Given the description of an element on the screen output the (x, y) to click on. 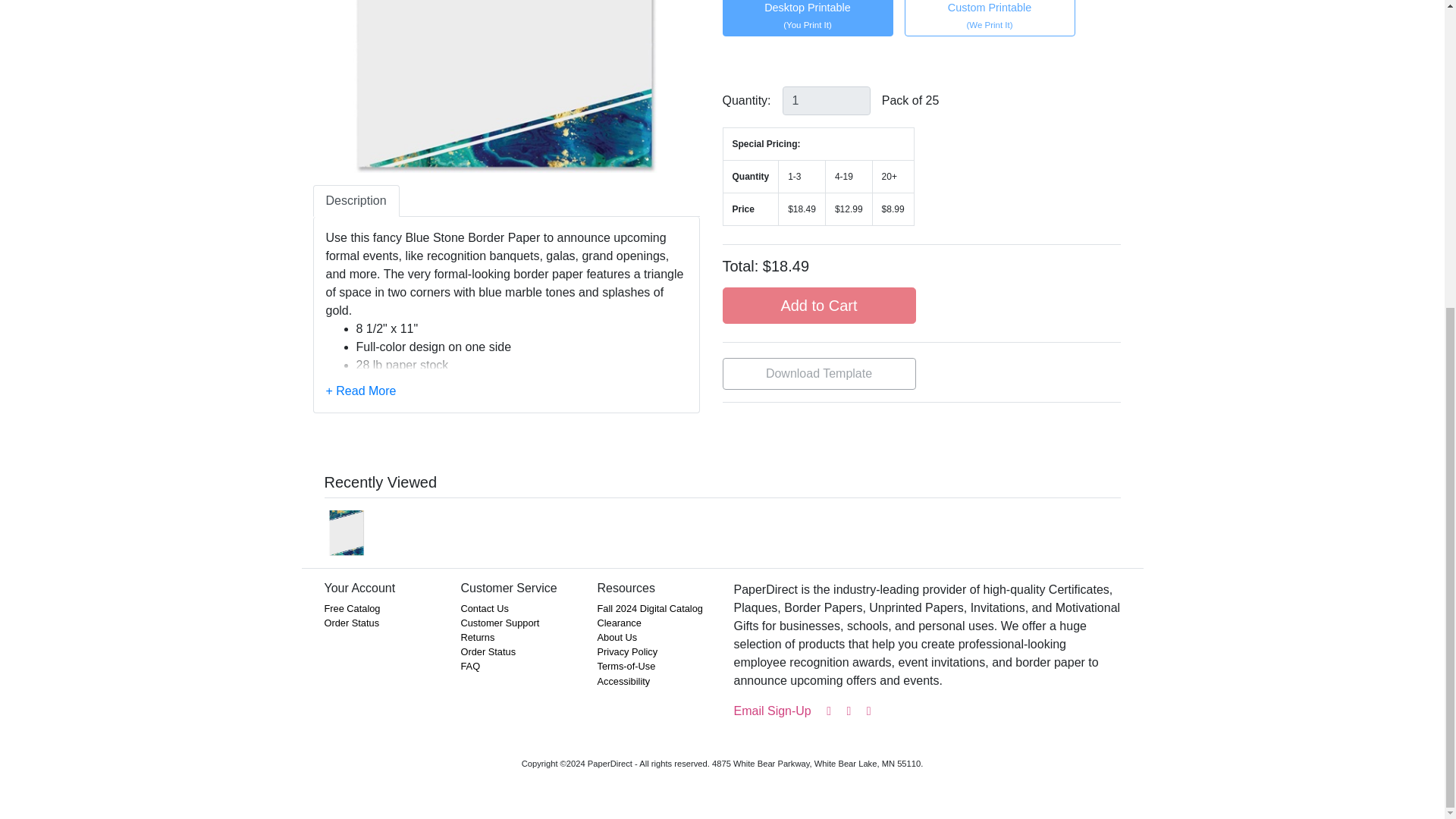
1 (826, 100)
Blue Stone Border Papers (505, 86)
